Given the description of an element on the screen output the (x, y) to click on. 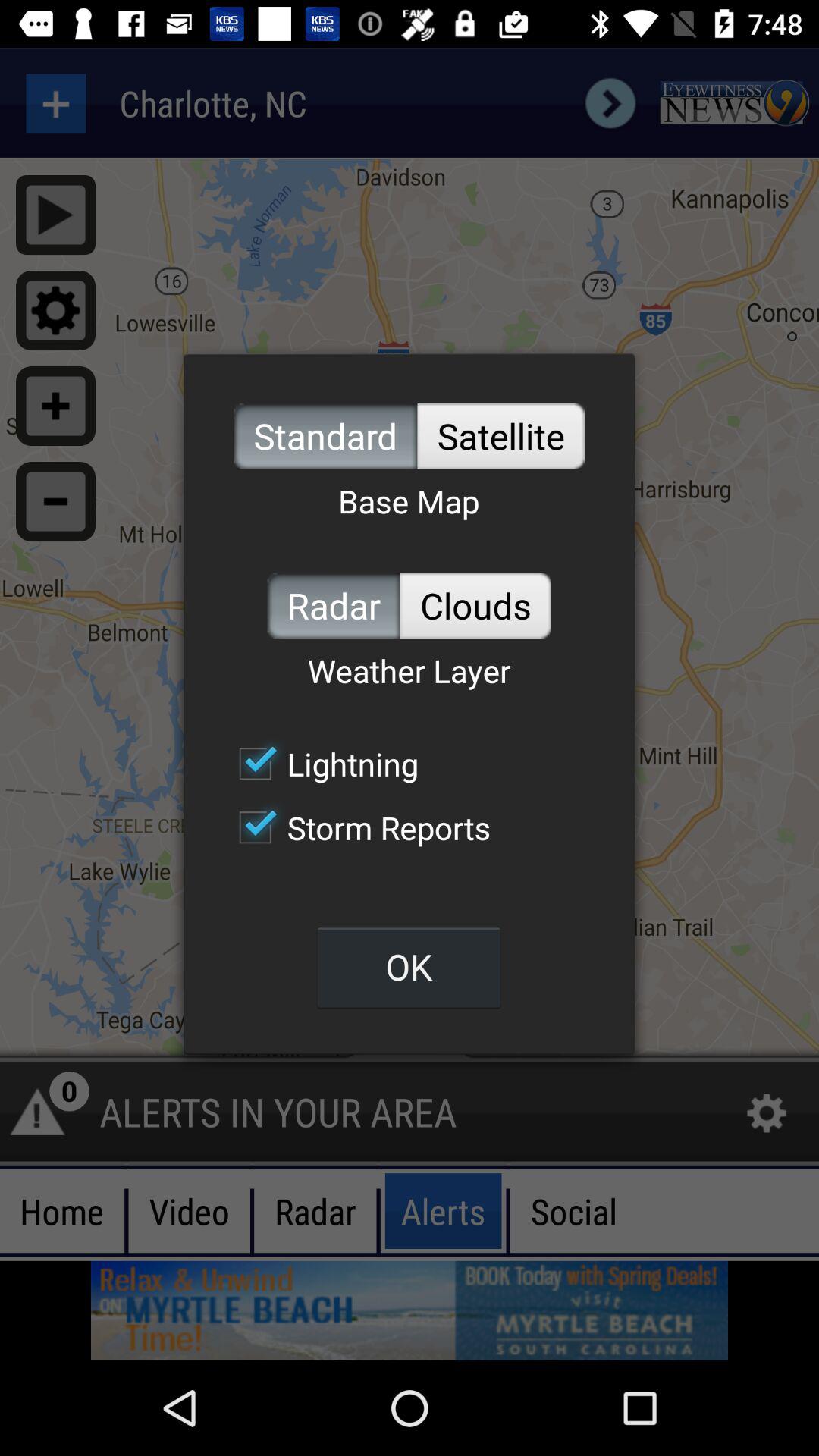
turn off item below storm reports icon (408, 966)
